Given the description of an element on the screen output the (x, y) to click on. 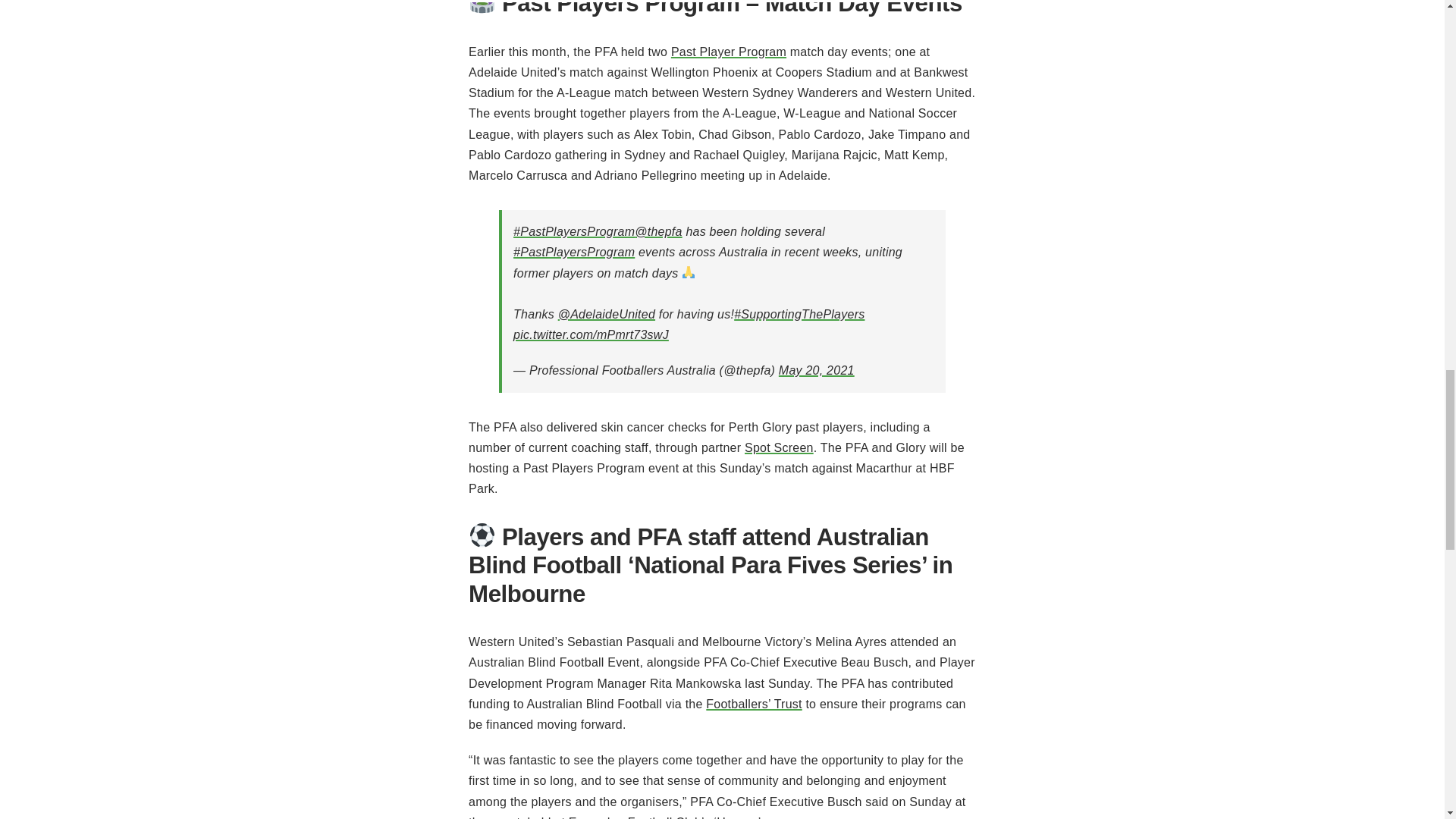
Past Player Program (728, 51)
